Given the description of an element on the screen output the (x, y) to click on. 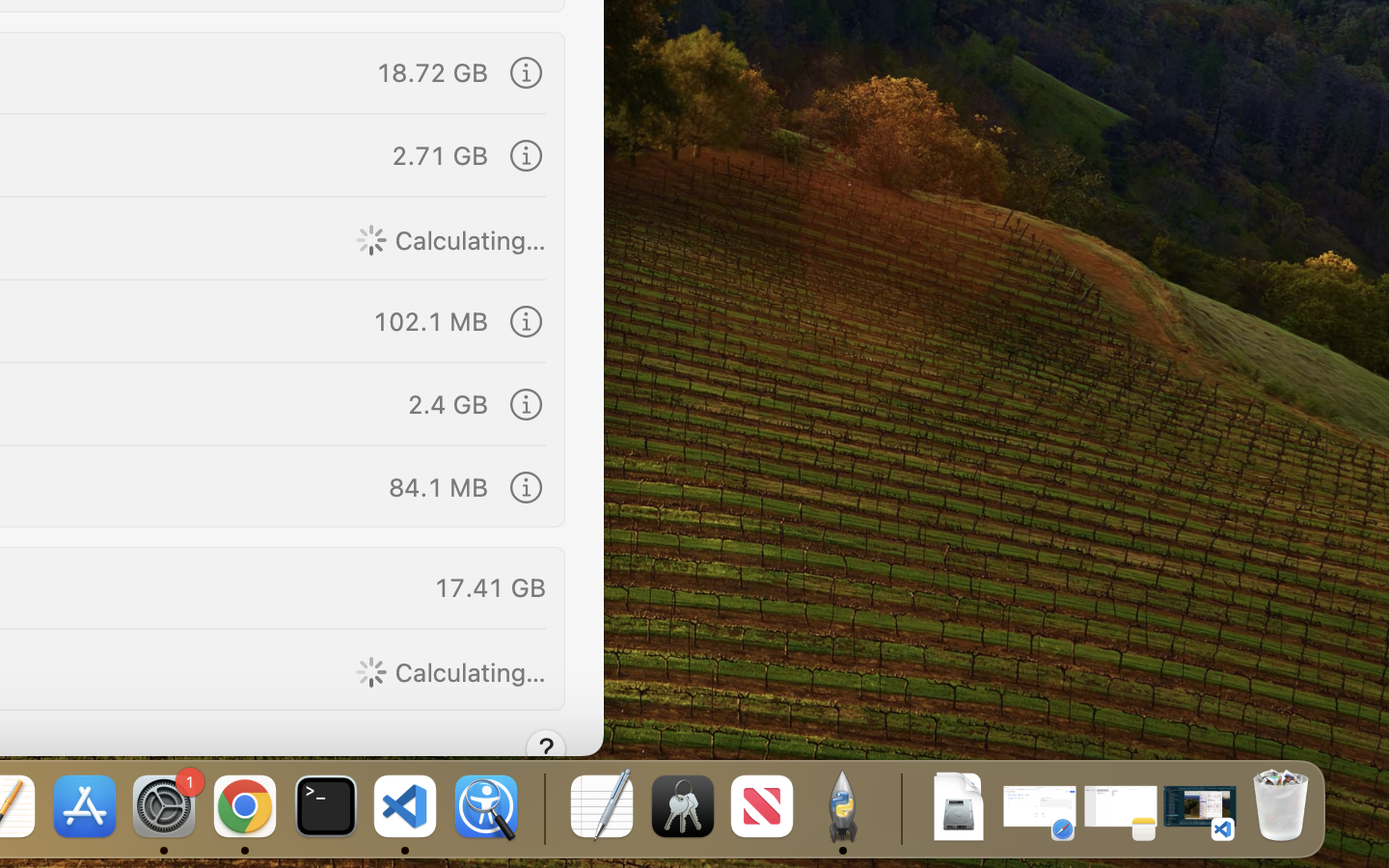
18.72 GB Element type: AXStaticText (431, 70)
2.4 GB Element type: AXStaticText (447, 402)
